Given the description of an element on the screen output the (x, y) to click on. 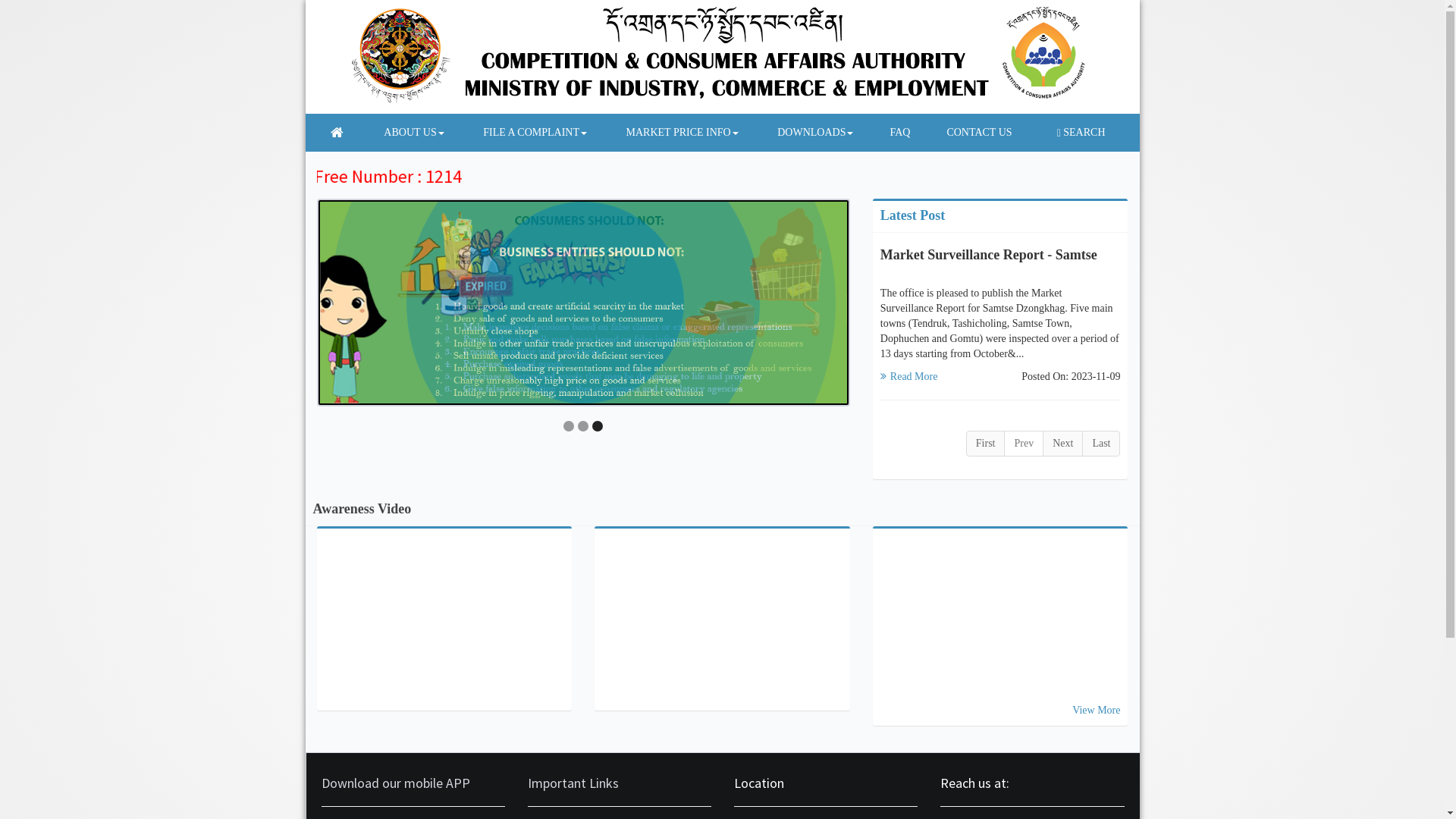
Next Element type: text (1062, 443)
ABOUT US Element type: text (406, 132)
View More Element type: text (1096, 709)
DOWNLOADS Element type: text (807, 132)
MARKET PRICE INFO Element type: text (673, 132)
First Element type: text (985, 443)
Prev Element type: text (1023, 443)
SEARCH Element type: text (1081, 132)
Read More Element type: text (909, 376)
FAQ Element type: text (892, 132)
CONTACT US Element type: text (971, 132)
FILE A COMPLAINT Element type: text (526, 132)
Last Element type: text (1101, 443)
